Given the description of an element on the screen output the (x, y) to click on. 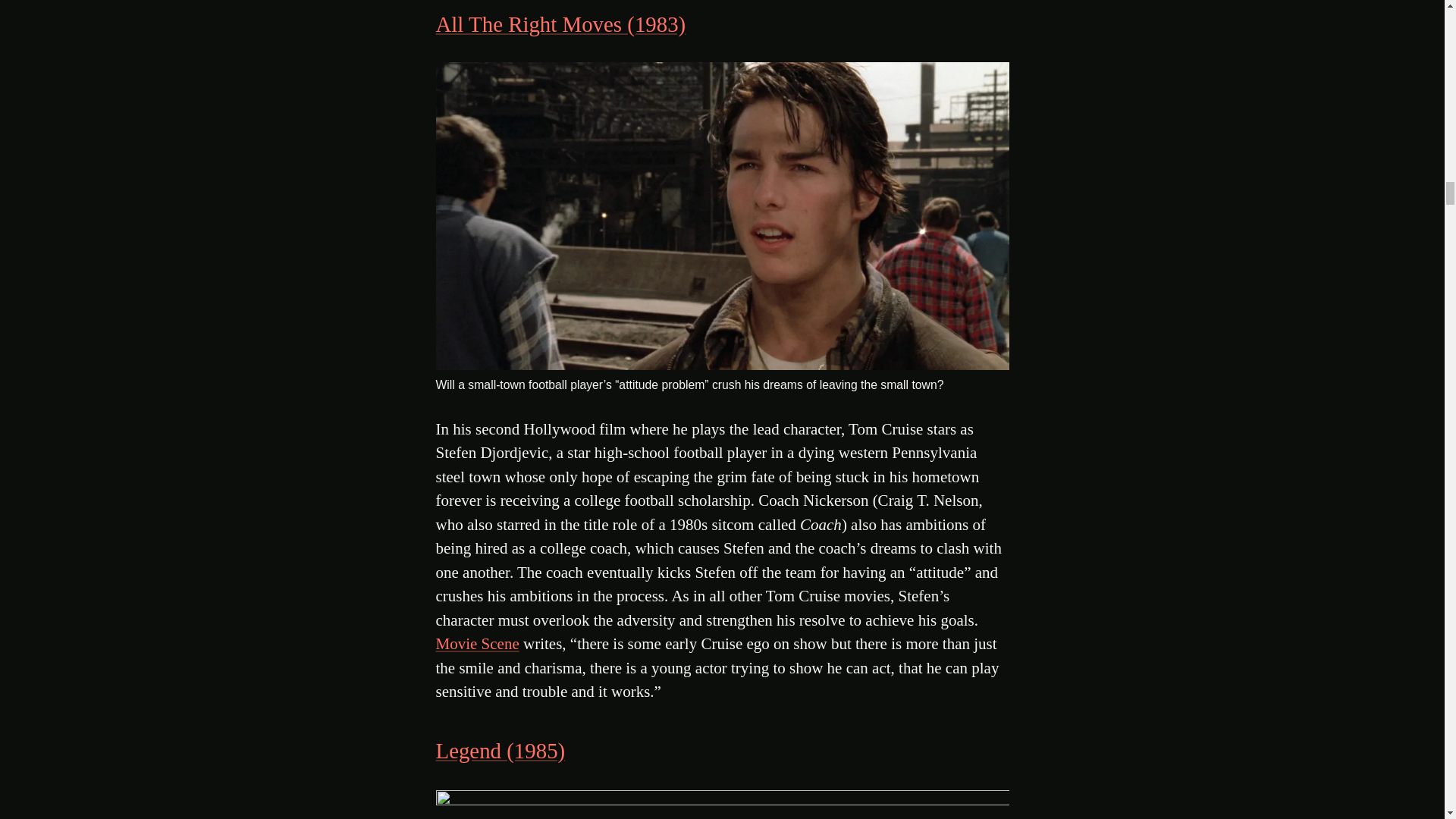
Movie Scene (476, 643)
